Given the description of an element on the screen output the (x, y) to click on. 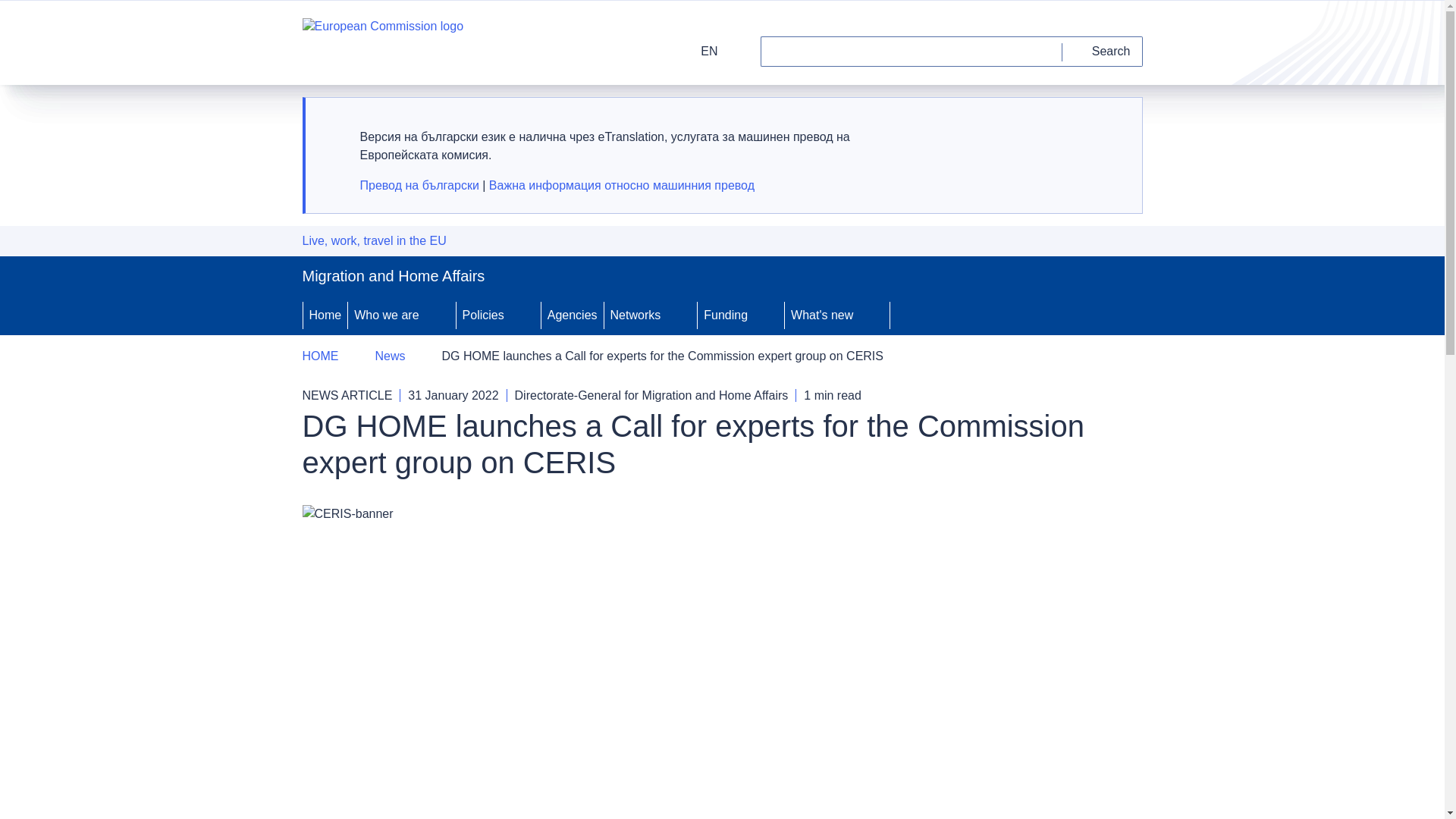
Live, work, travel in the EU (373, 240)
European Commission (382, 42)
EN (699, 51)
Agencies (572, 314)
Search (1102, 51)
Home (324, 314)
Networks (633, 314)
Who we are (384, 314)
Policies (481, 314)
